Given the description of an element on the screen output the (x, y) to click on. 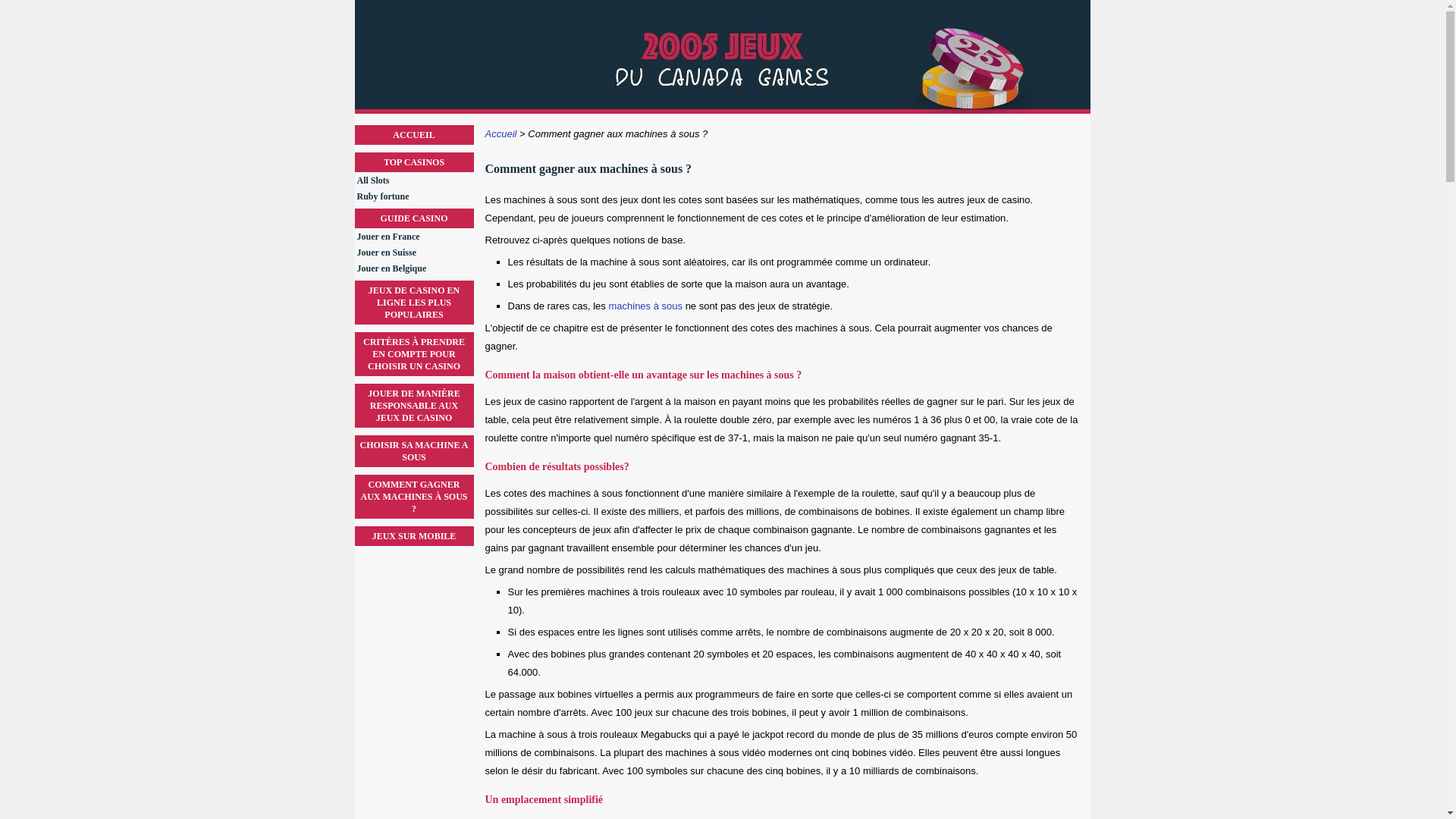
ACCUEIL Element type: text (413, 134)
Jouer en Suisse Element type: text (414, 252)
All Slots Element type: text (414, 180)
JEUX SUR MOBILE Element type: text (413, 536)
TOP CASINOS Element type: text (413, 162)
Jouer en France Element type: text (414, 236)
Accueil Element type: text (501, 133)
CHOISIR SA MACHINE A SOUS Element type: text (413, 451)
Ruby fortune Element type: text (414, 195)
JEUX DE CASINO EN LIGNE LES PLUS POPULAIRES Element type: text (413, 302)
Jouer en Belgique Element type: text (414, 268)
GUIDE CASINO Element type: text (413, 218)
